Given the description of an element on the screen output the (x, y) to click on. 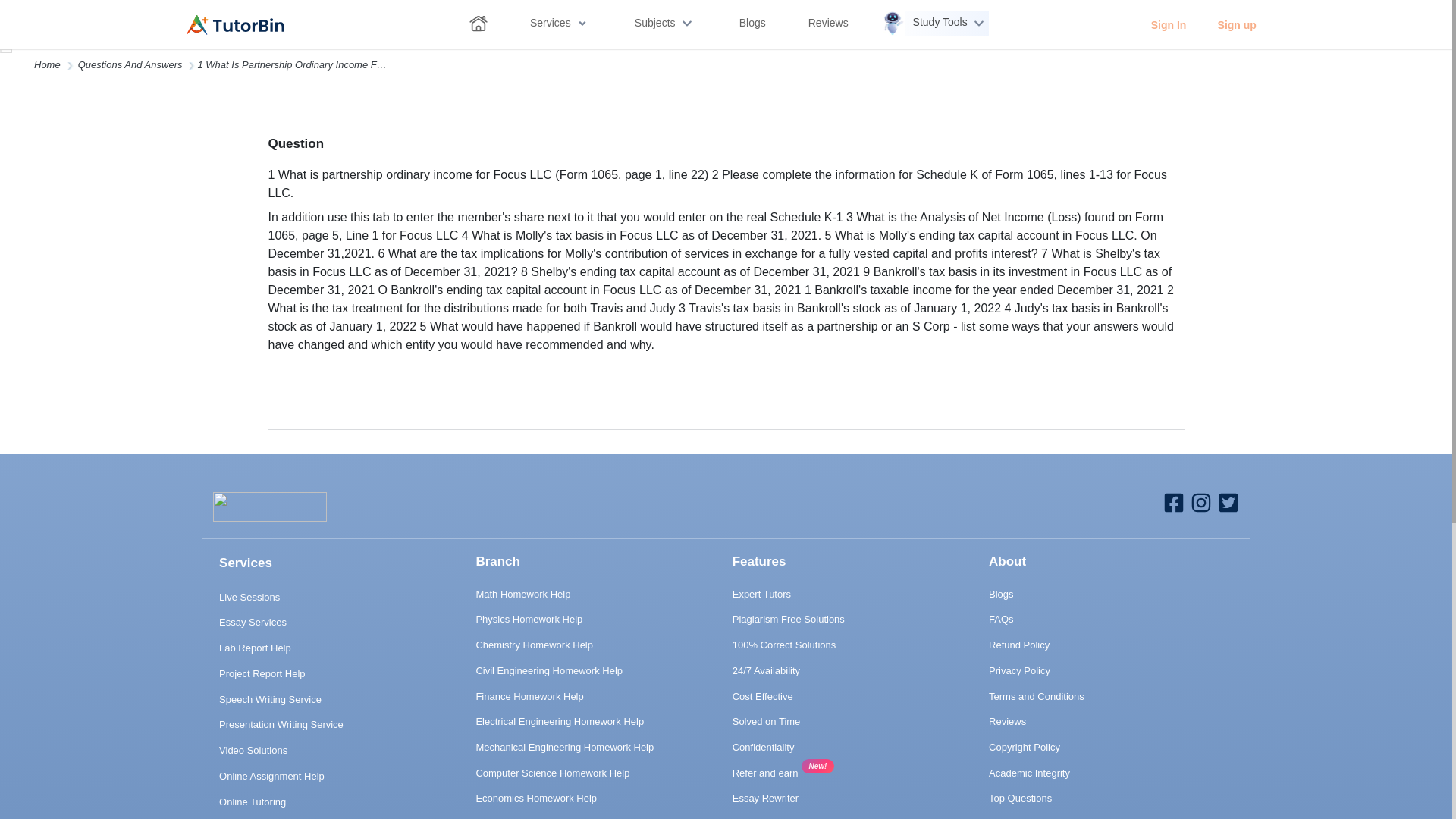
questions-and-answers (129, 64)
Blogs (752, 24)
Home (47, 64)
Sign up (1236, 24)
Sign In (1168, 24)
Services (558, 24)
Subjects (663, 23)
Study Tools (935, 22)
Reviews (828, 24)
